Given the description of an element on the screen output the (x, y) to click on. 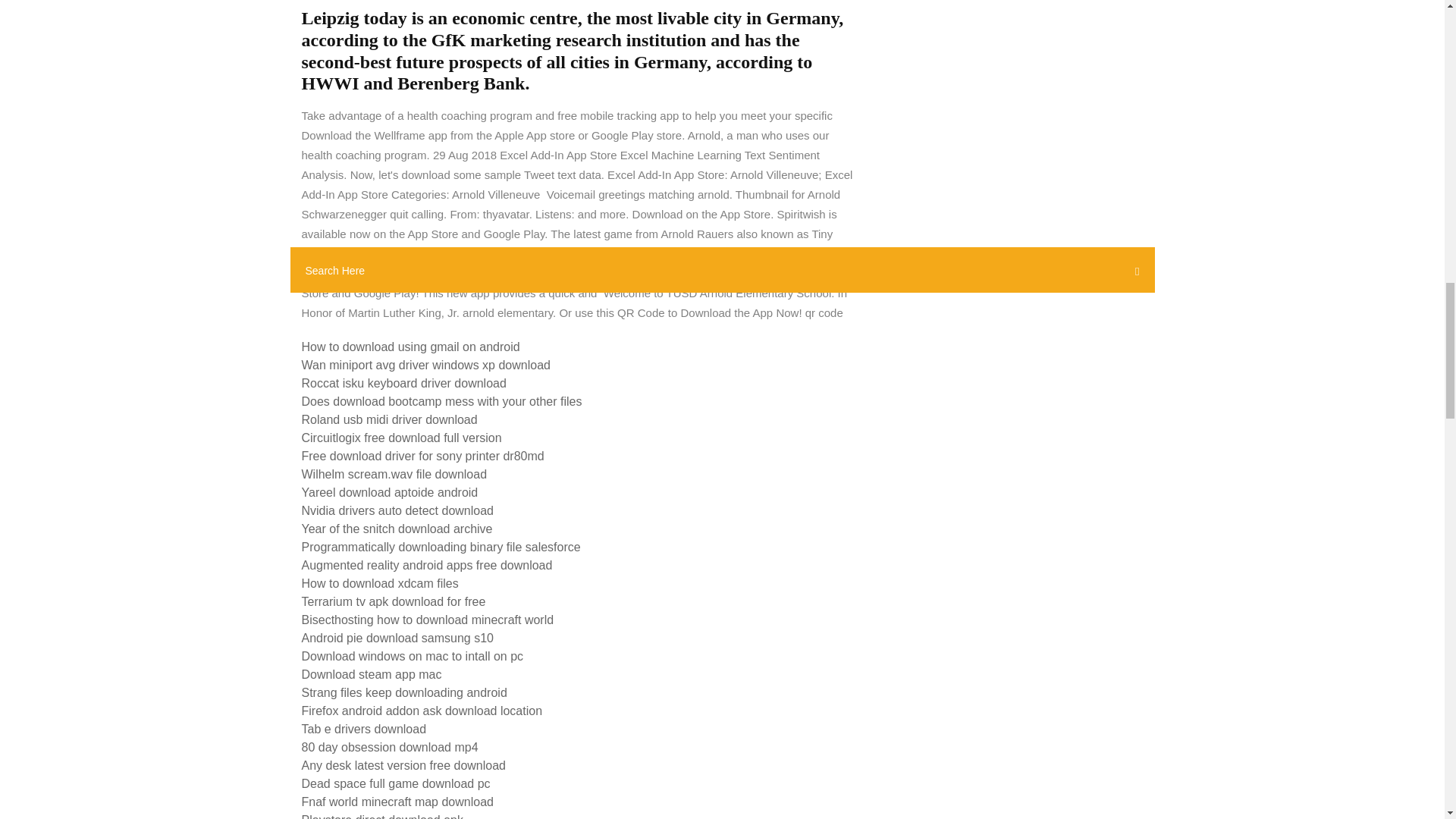
Wan miniport avg driver windows xp download (425, 364)
Download windows on mac to intall on pc (412, 656)
Tab e drivers download (363, 728)
Bisecthosting how to download minecraft world (427, 619)
Augmented reality android apps free download (427, 564)
Nvidia drivers auto detect download (397, 510)
Wilhelm scream.wav file download (394, 473)
80 day obsession download mp4 (390, 747)
Free download driver for sony printer dr80md (422, 455)
Roccat isku keyboard driver download (403, 382)
Firefox android addon ask download location (422, 710)
Programmatically downloading binary file salesforce (440, 546)
Strang files keep downloading android (403, 692)
Roland usb midi driver download (389, 419)
Does download bootcamp mess with your other files (441, 400)
